Given the description of an element on the screen output the (x, y) to click on. 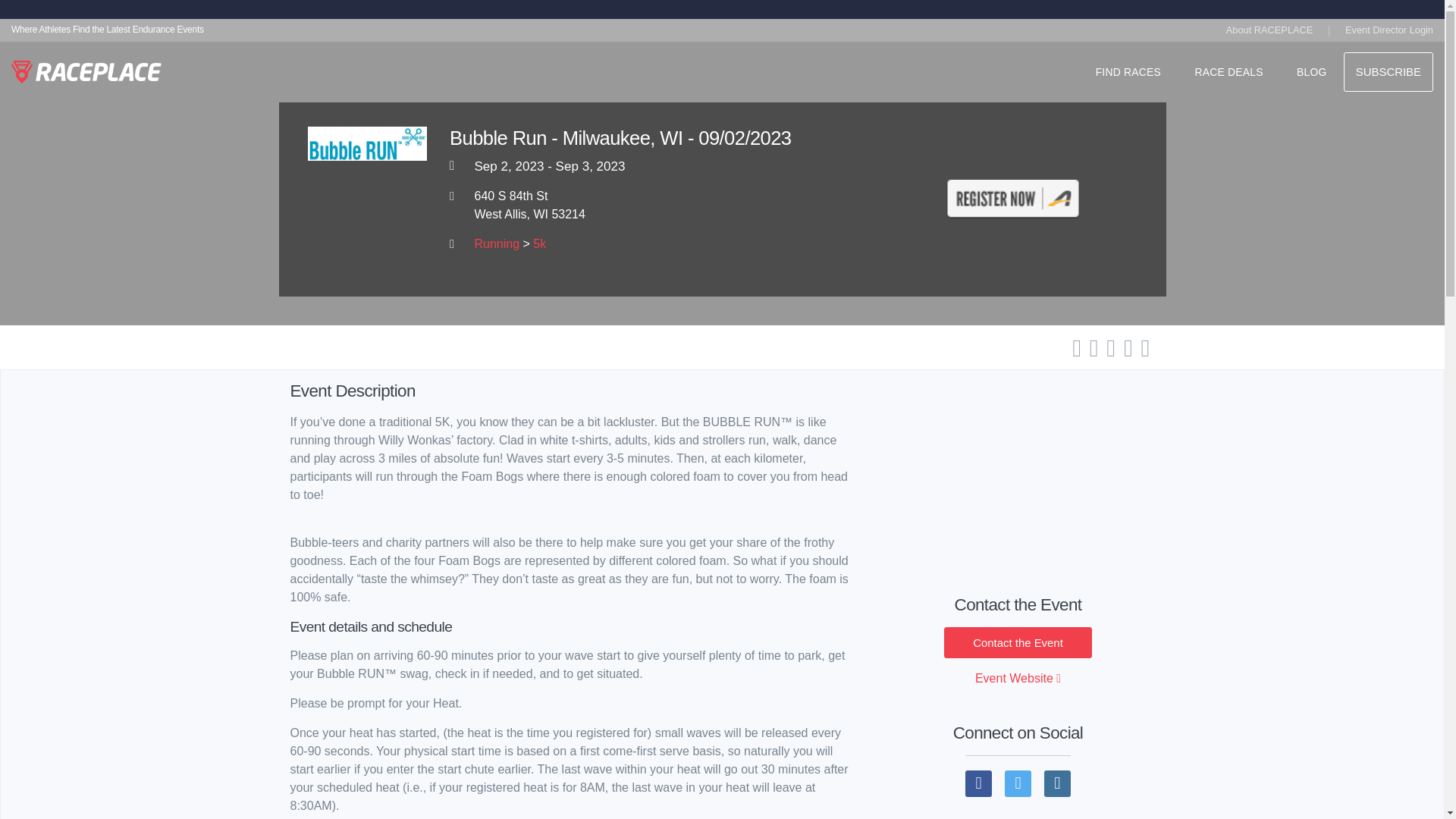
About RACEPLACE (1269, 32)
Event Director Login (1388, 29)
Registration Powered by Active.com (1013, 199)
FIND RACES (1127, 74)
